Given the description of an element on the screen output the (x, y) to click on. 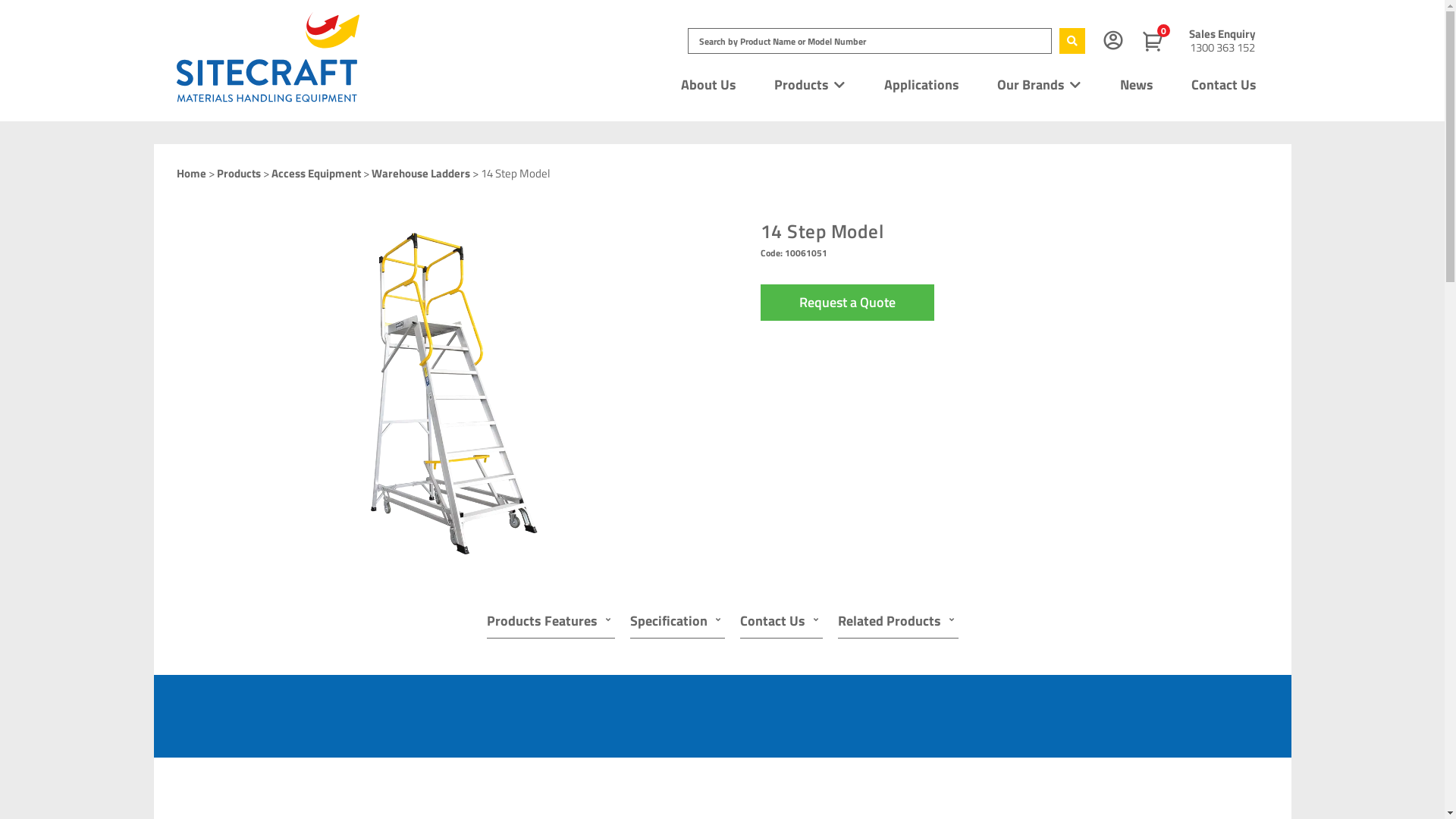
Specification Element type: text (676, 621)
Contact Us Element type: text (1223, 84)
About Us Element type: text (708, 84)
Bailey Deluxe Access Platform 14 Step Model Element type: hover (437, 392)
Access Equipment Element type: text (315, 173)
Products Element type: text (238, 173)
Chat Element type: hover (1406, 778)
Products Features Element type: text (550, 621)
Applications Element type: text (921, 84)
Submit Element type: text (863, 578)
Home Element type: text (190, 173)
News Element type: text (1136, 84)
Request a Quote Element type: text (846, 302)
0 Element type: text (1156, 41)
Our Brands Element type: text (1030, 84)
Bailey Deluxe Access Platform 14 Step Model Element type: hover (437, 391)
Related Products Element type: text (897, 621)
Warehouse Ladders Element type: text (420, 173)
Contact Us Element type: text (781, 621)
Products Element type: text (801, 84)
